Given the description of an element on the screen output the (x, y) to click on. 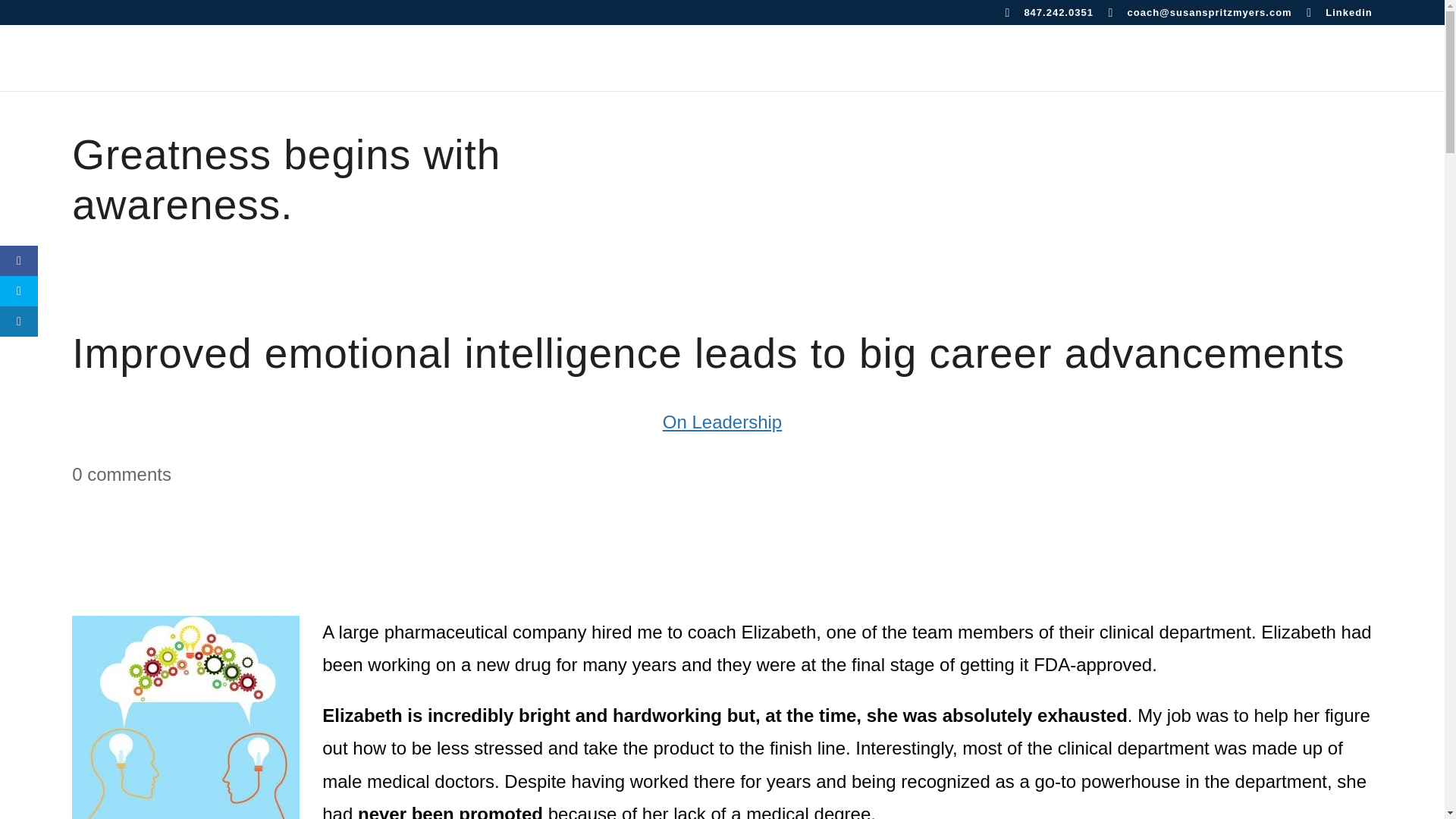
On Leadership (721, 421)
BLOG (1237, 56)
PROCESS (966, 56)
ABOUT (1152, 56)
CONTACT (1330, 56)
Linkedin (1347, 16)
KOLBE (1063, 56)
TEAMS (868, 56)
847.242.0351 (1058, 16)
0 comments (121, 474)
LEADERS (771, 56)
